Given the description of an element on the screen output the (x, y) to click on. 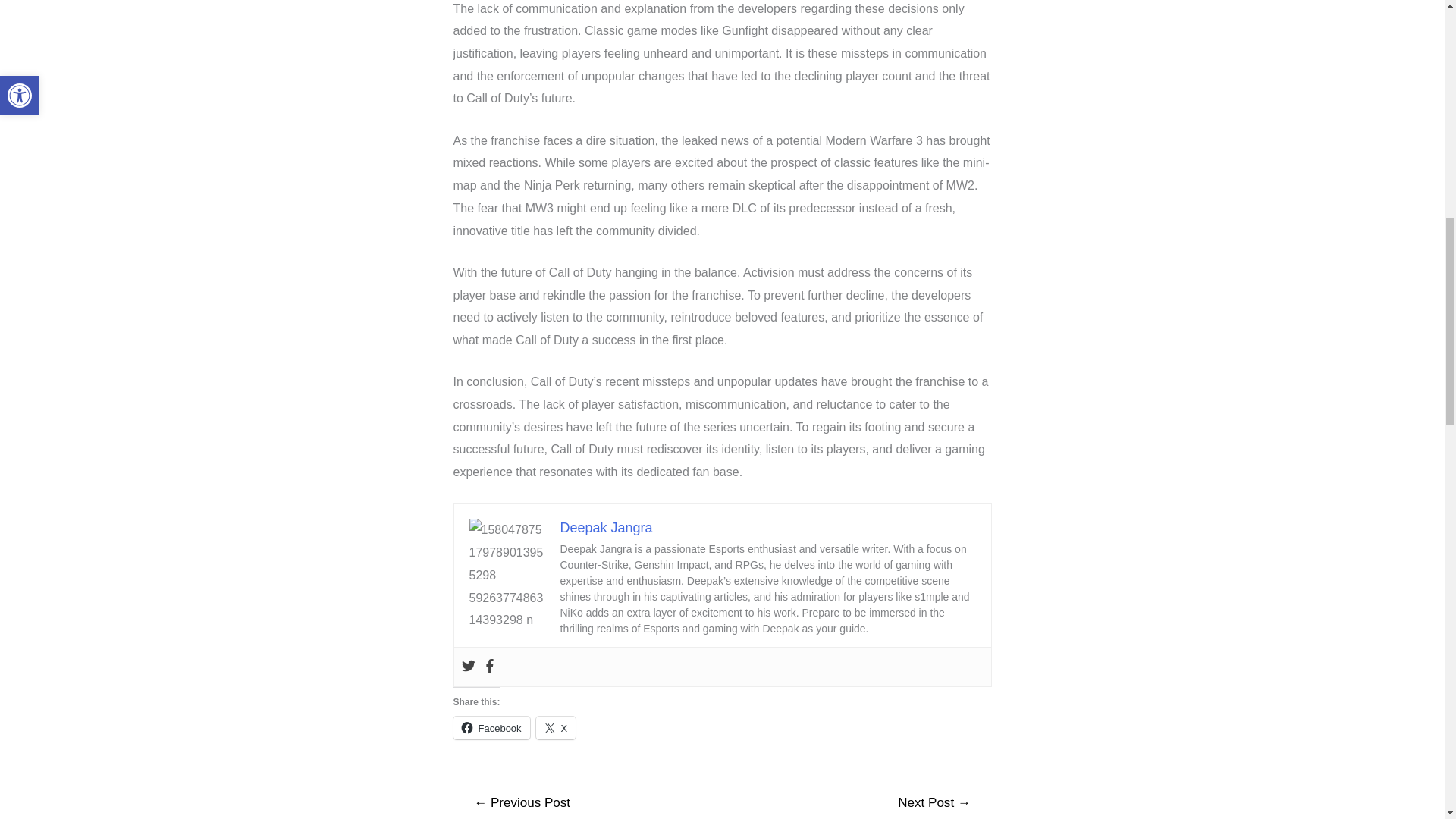
Click to share on Facebook (490, 727)
Twitter (467, 666)
Facebook (488, 666)
Click to share on X (555, 727)
